Given the description of an element on the screen output the (x, y) to click on. 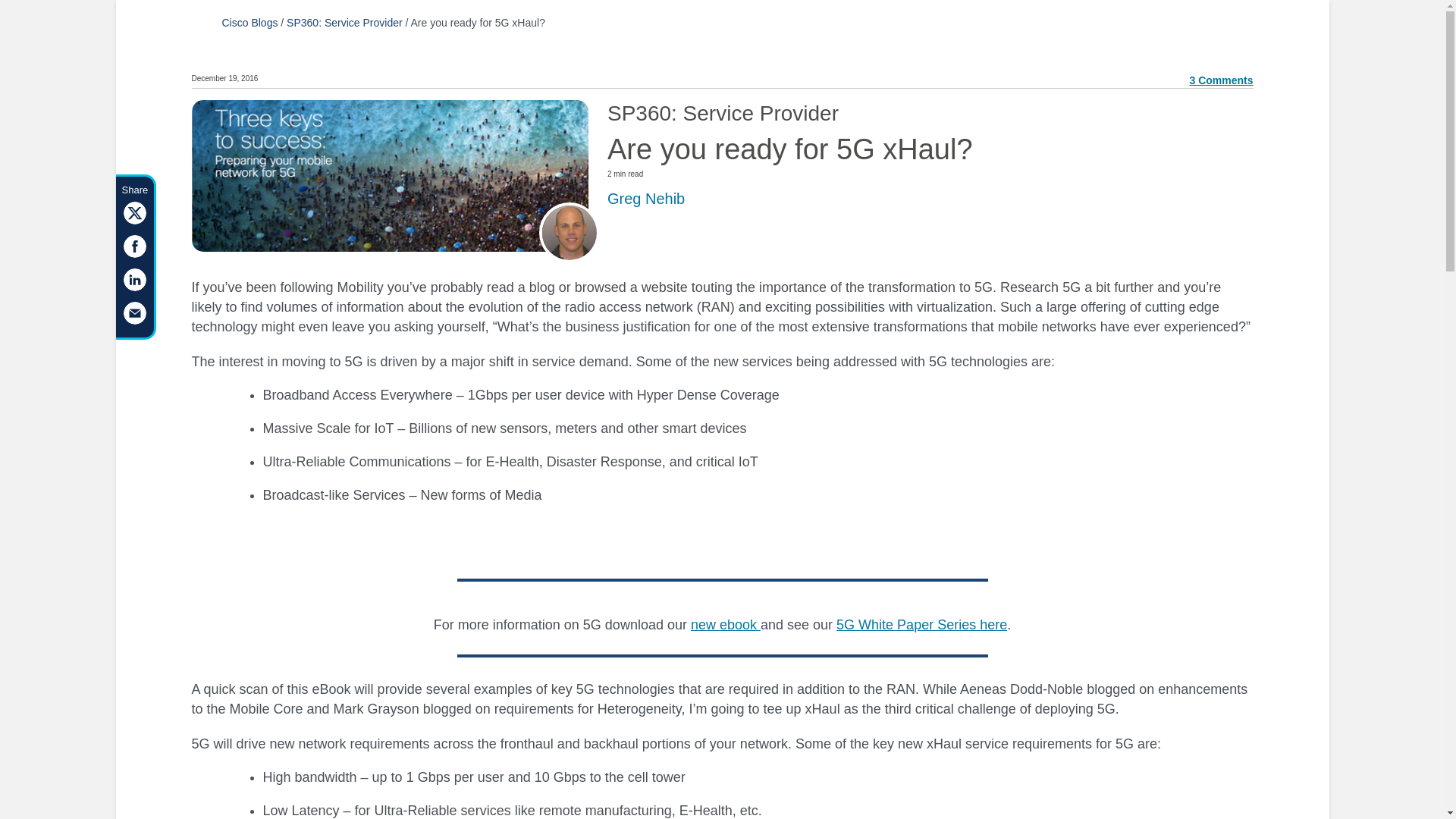
Posts by Greg Nehib (645, 198)
Cisco Blogs (249, 22)
5G White Paper Series here (921, 624)
Greg Nehib (645, 198)
new ebook (725, 624)
SP360: Service Provider (344, 22)
